Given the description of an element on the screen output the (x, y) to click on. 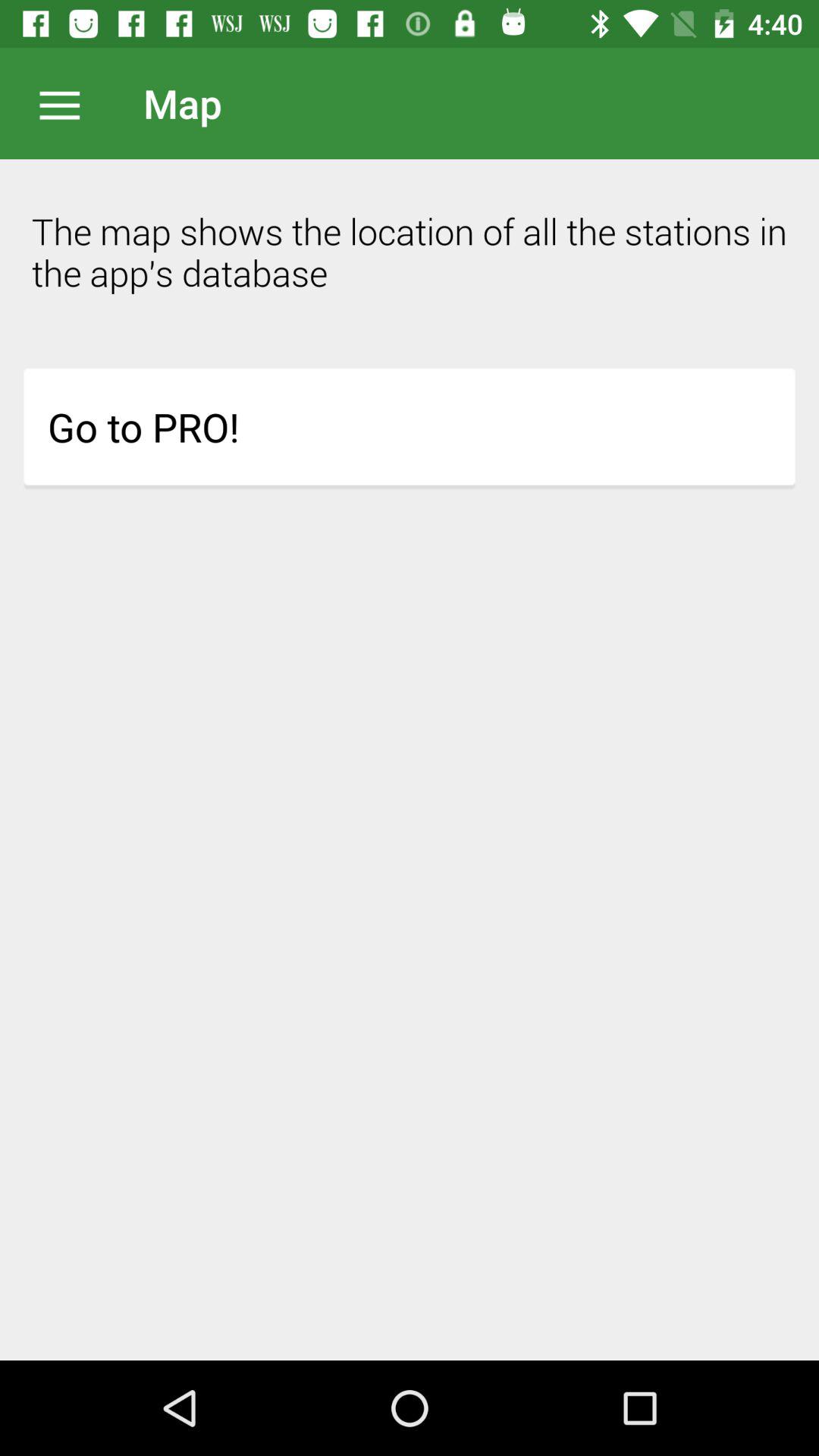
open menu (67, 103)
